Given the description of an element on the screen output the (x, y) to click on. 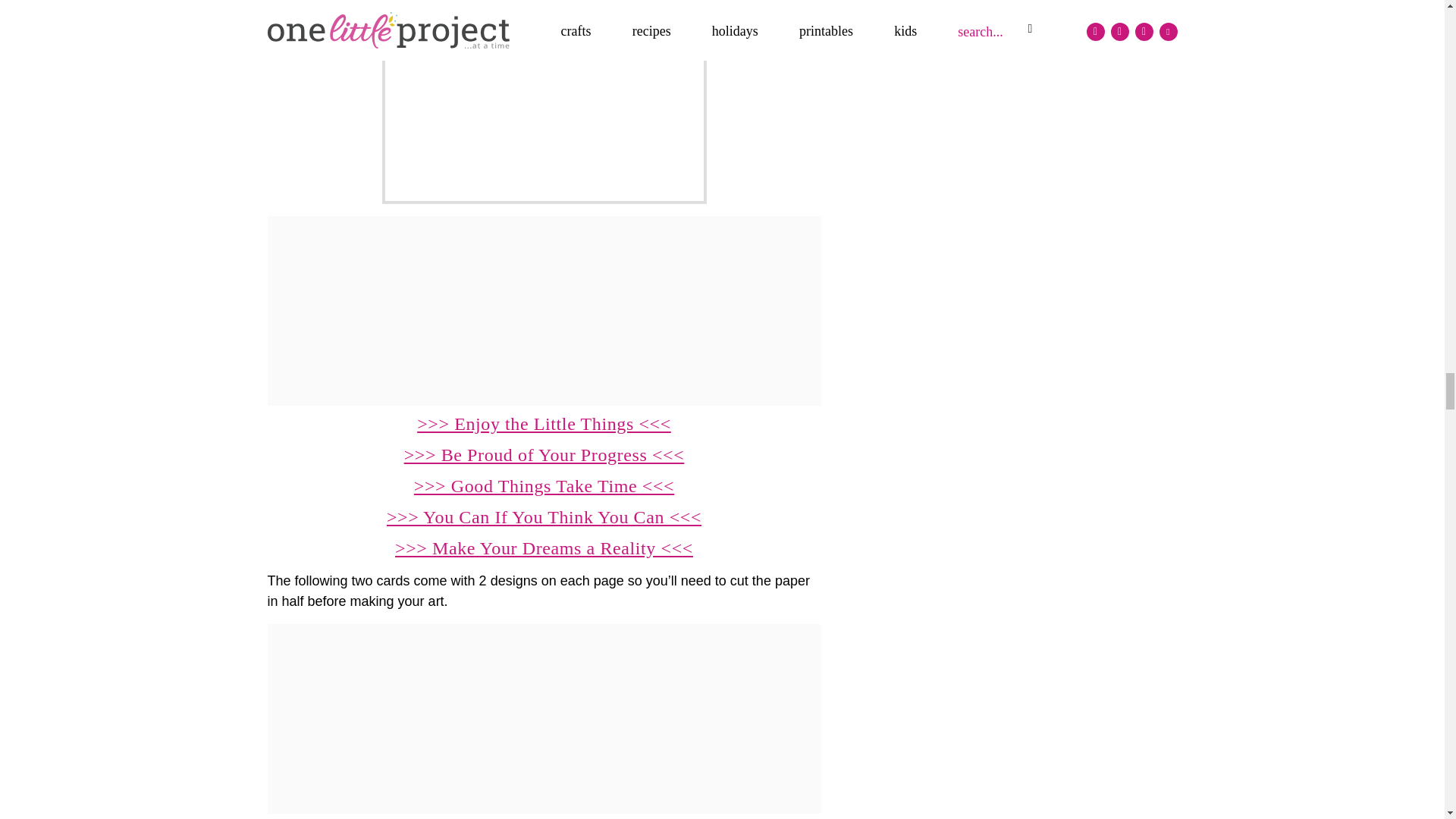
Enjoy the Little Things - Free Printable Watercolor Template (543, 102)
